Given the description of an element on the screen output the (x, y) to click on. 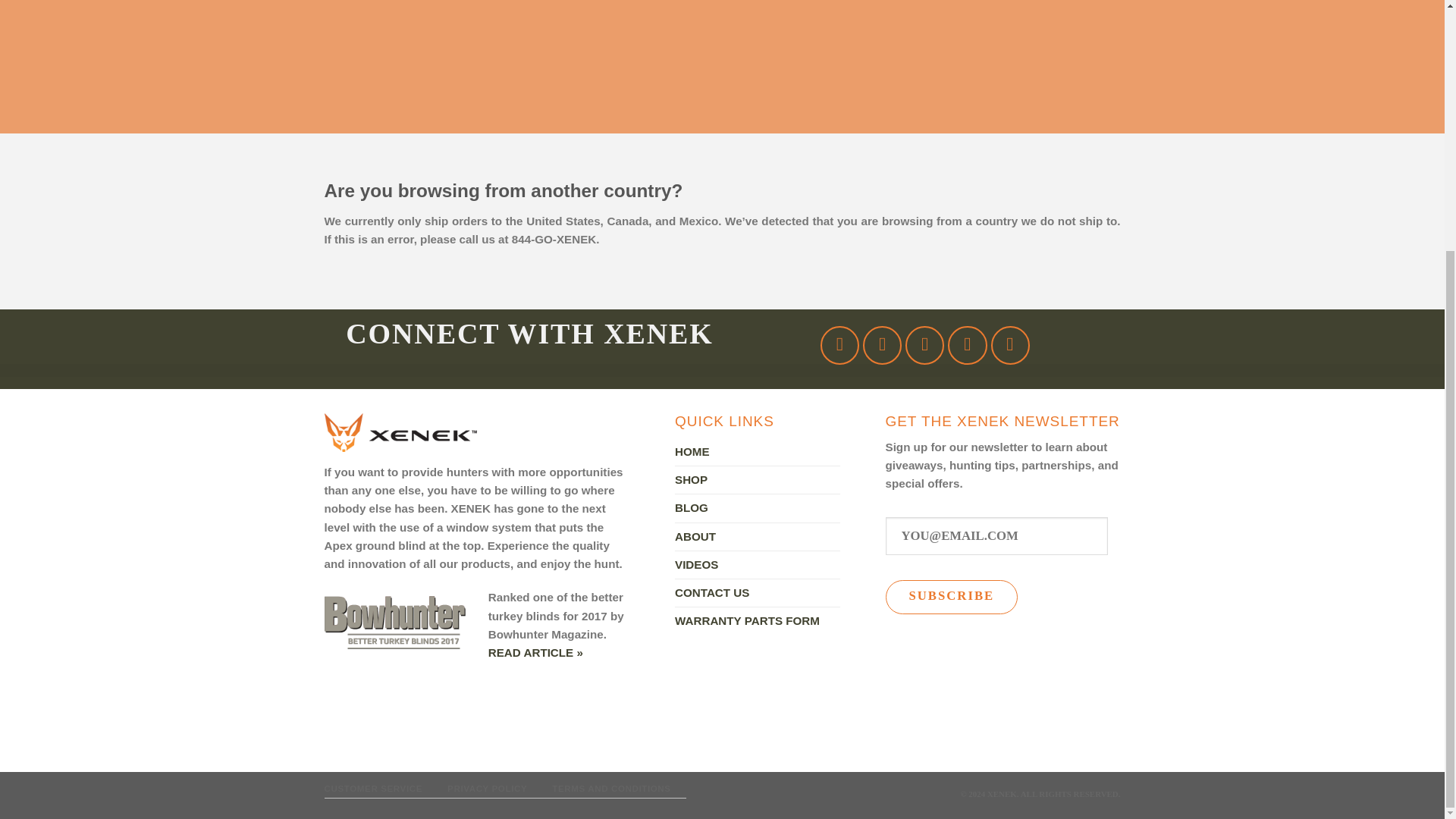
BLOG (691, 507)
HOME (692, 452)
SUBSCRIBE (951, 596)
Follow on Twitter (924, 344)
Follow on Facebook (840, 344)
SHOP (691, 479)
ABOUT (695, 536)
Follow on Instagram (882, 344)
Send us an email (967, 344)
VIDEOS (696, 564)
Follow on YouTube (1010, 344)
